Given the description of an element on the screen output the (x, y) to click on. 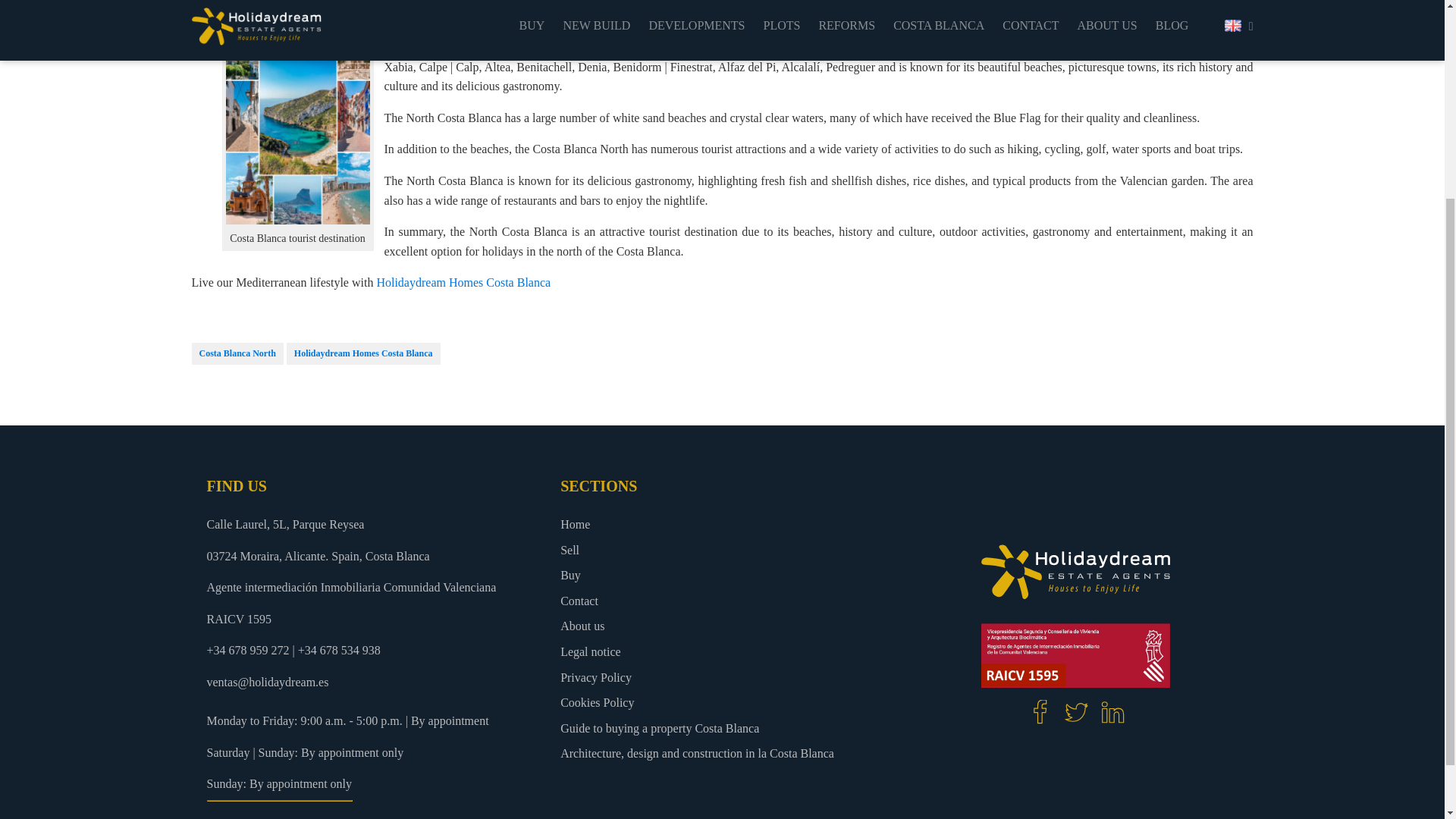
Costa Blanca North (456, 47)
Costa Blanca North (236, 353)
Holidaydream Homes Costa Blanca (462, 282)
